Given the description of an element on the screen output the (x, y) to click on. 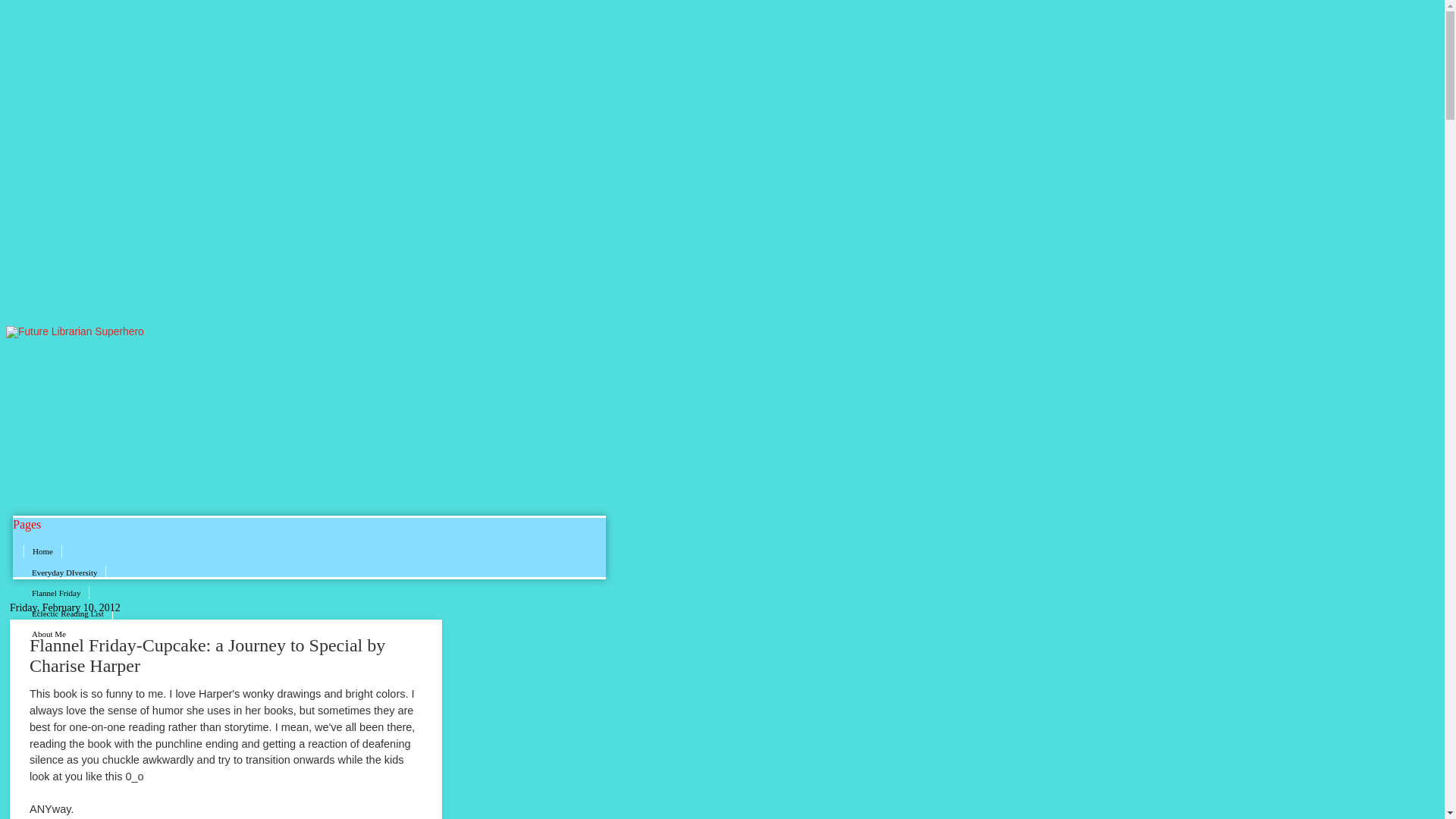
About Me (49, 633)
Flannel Friday (55, 592)
Eclectic Reading List (68, 612)
Home (42, 551)
Everyday DIversity (64, 572)
